Given the description of an element on the screen output the (x, y) to click on. 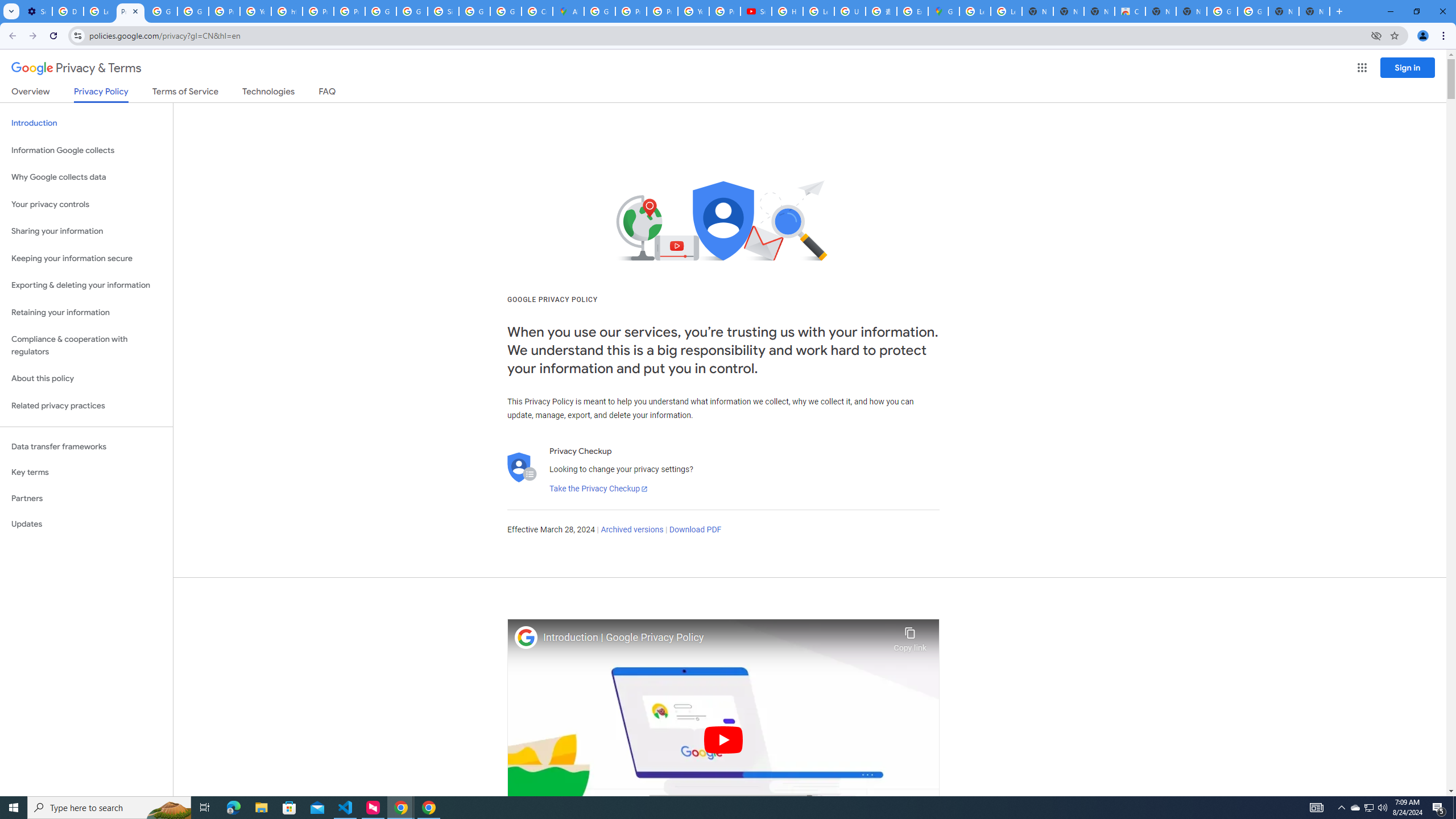
Your privacy controls (86, 204)
New Tab (1314, 11)
Explore new street-level details - Google Maps Help (912, 11)
Introduction | Google Privacy Policy (715, 637)
